Given the description of an element on the screen output the (x, y) to click on. 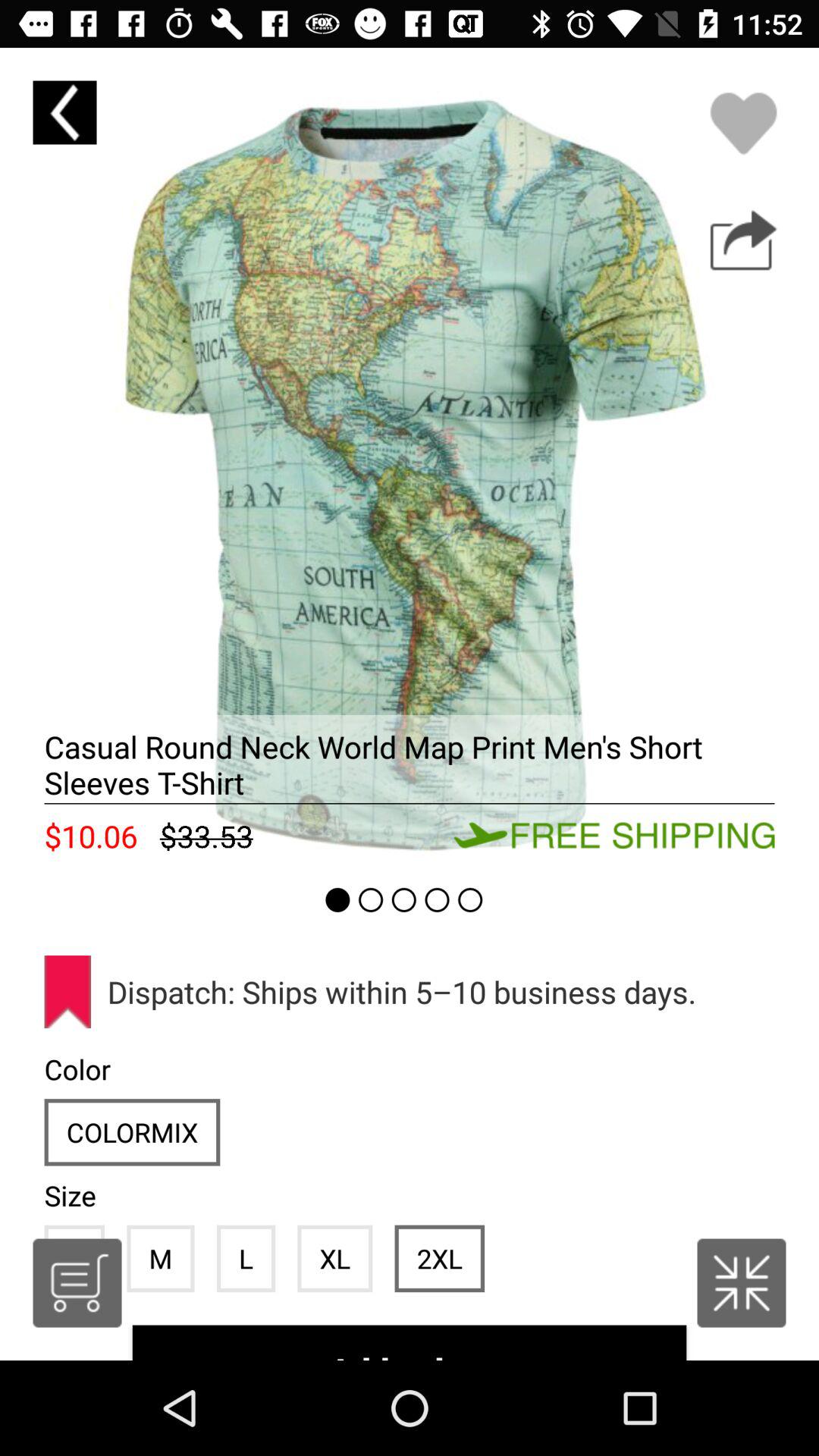
see british listing (741, 1282)
